Given the description of an element on the screen output the (x, y) to click on. 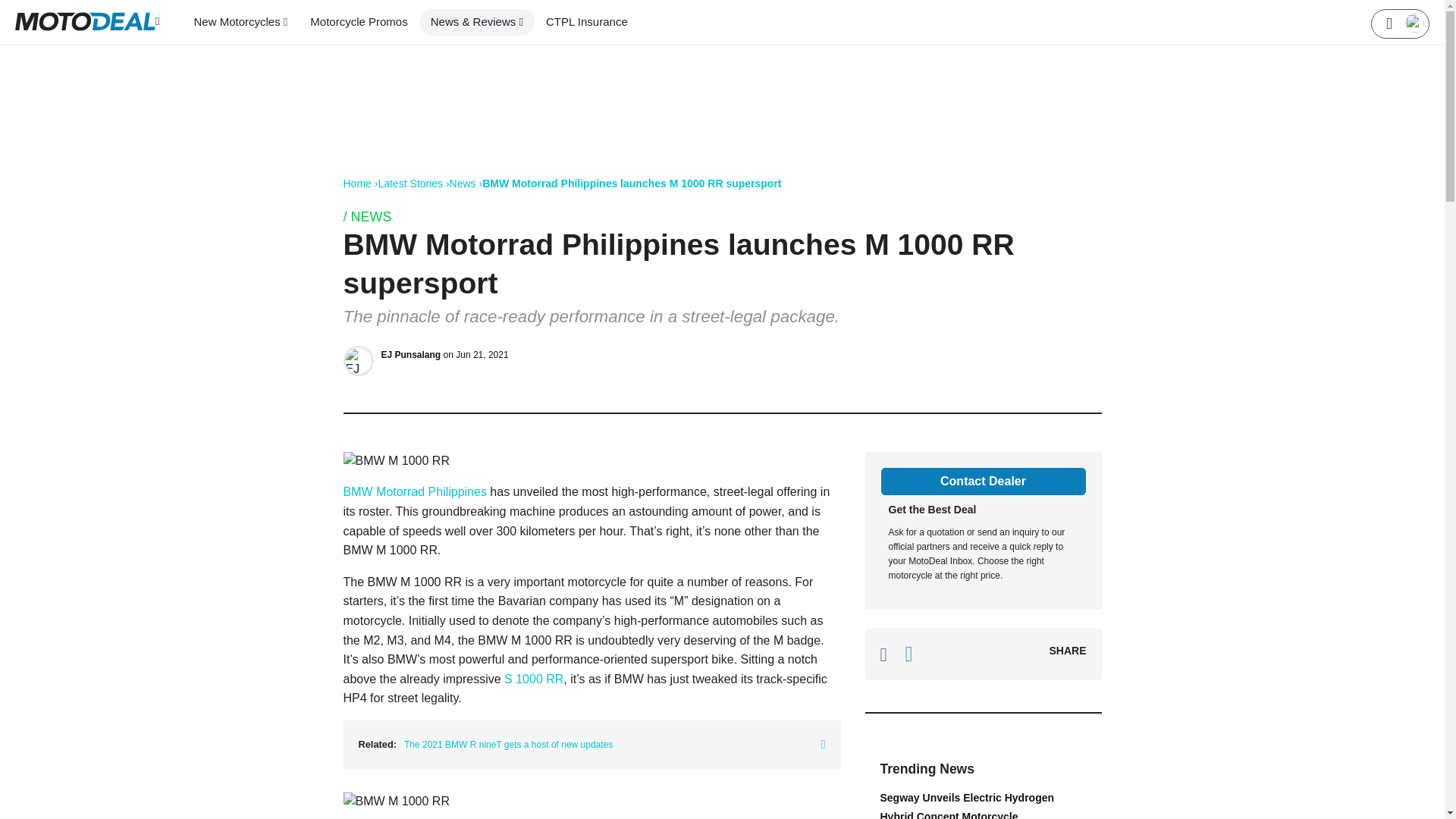
Motorcycle Promos (358, 22)
EJ Punsalang on Jun 21, 2021 (444, 354)
BMW Motorrad Philippines (415, 491)
S 1000 RR (533, 678)
New Motorcycles (240, 22)
CTPL Insurance (586, 22)
BMW Motorrad Philippines launches M 1000 RR supersport (630, 183)
The 2021 BMW R nineT gets a host of new updates (614, 744)
